Given the description of an element on the screen output the (x, y) to click on. 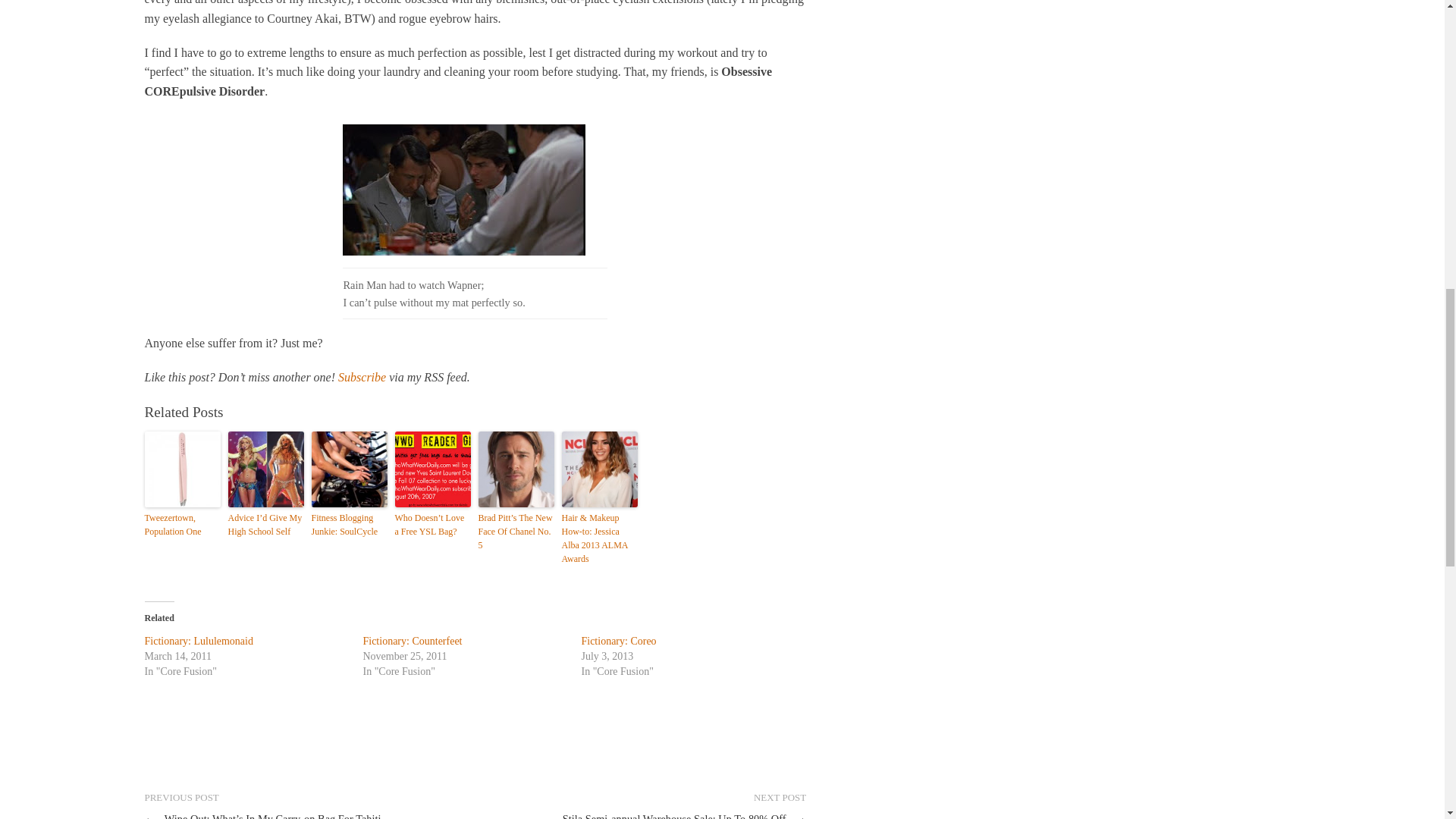
Fictionary: Counterfeet (411, 641)
Fictionary: Coreo (618, 641)
Fictionary: Lululemonaid (197, 641)
Fictionary: Coreo (618, 641)
Subscribe (361, 377)
Fictionary: Lululemonaid (197, 641)
Tweezertown, Population One (181, 524)
Fitness Blogging Junkie: SoulCycle (349, 524)
Fictionary: Counterfeet (411, 641)
